Given the description of an element on the screen output the (x, y) to click on. 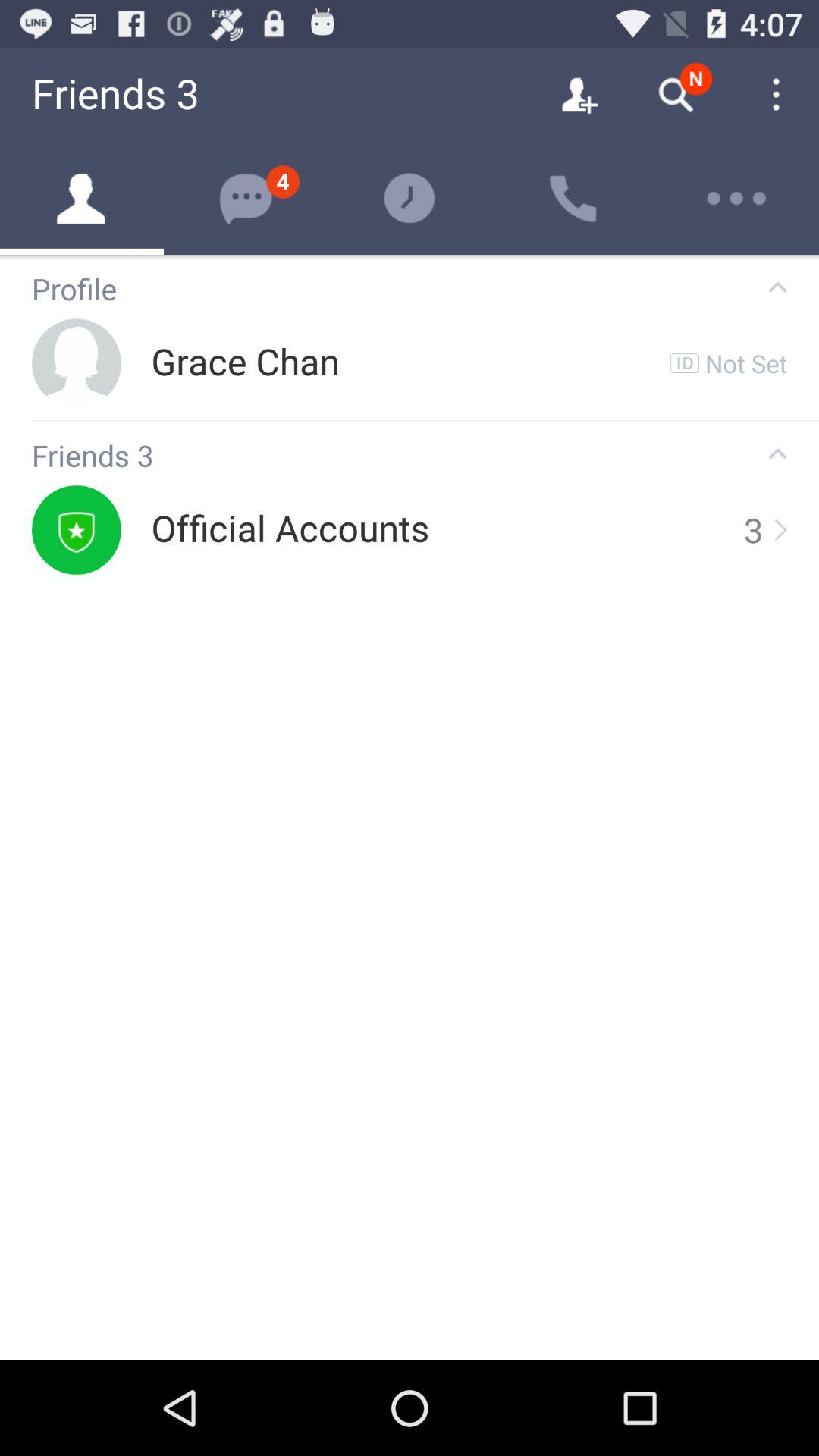
press the app below friends 3 app (290, 529)
